Given the description of an element on the screen output the (x, y) to click on. 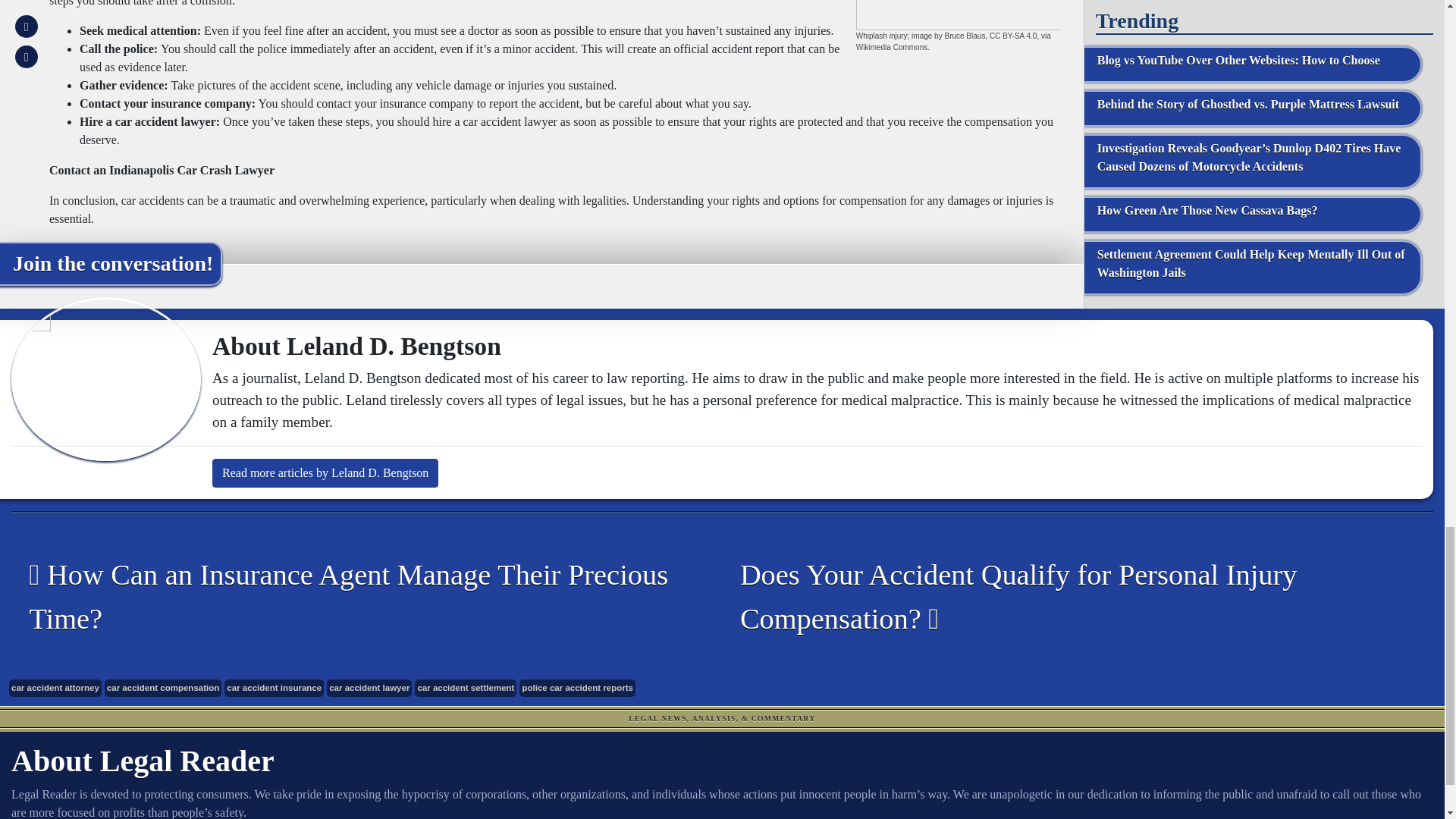
 How Can an Insurance Agent Manage Their Precious Time? (355, 596)
Read more articles by Leland D. Bengtson (325, 472)
car accident settlement (465, 687)
car accident insurance (273, 687)
car accident compensation (162, 687)
car accident lawyer (369, 687)
Read more articles by Leland D. Bengtson (325, 472)
police car accident reports (576, 687)
car accident attorney (54, 687)
